Given the description of an element on the screen output the (x, y) to click on. 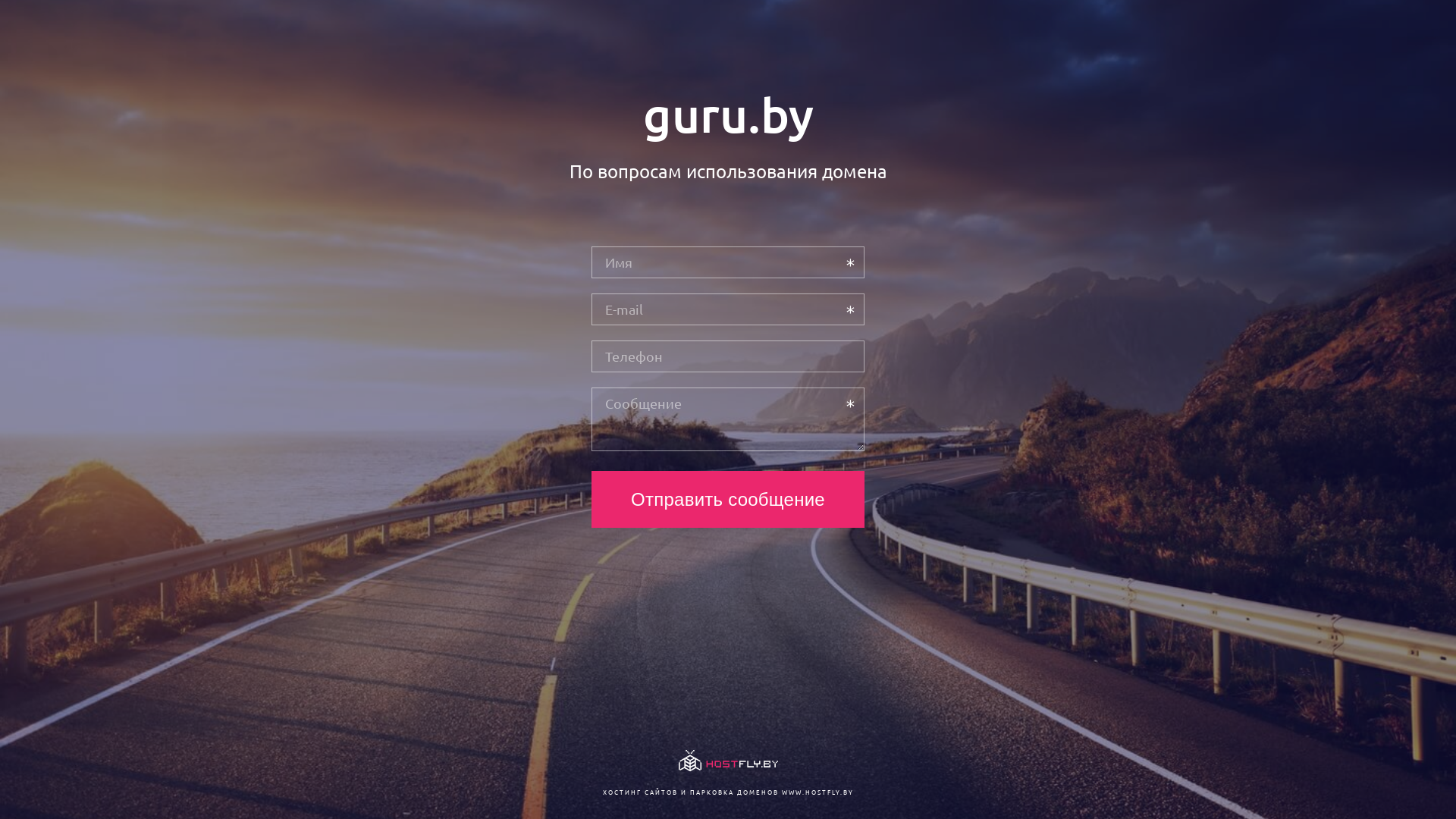
WWW.HOSTFLY.BY Element type: text (817, 791)
